Given the description of an element on the screen output the (x, y) to click on. 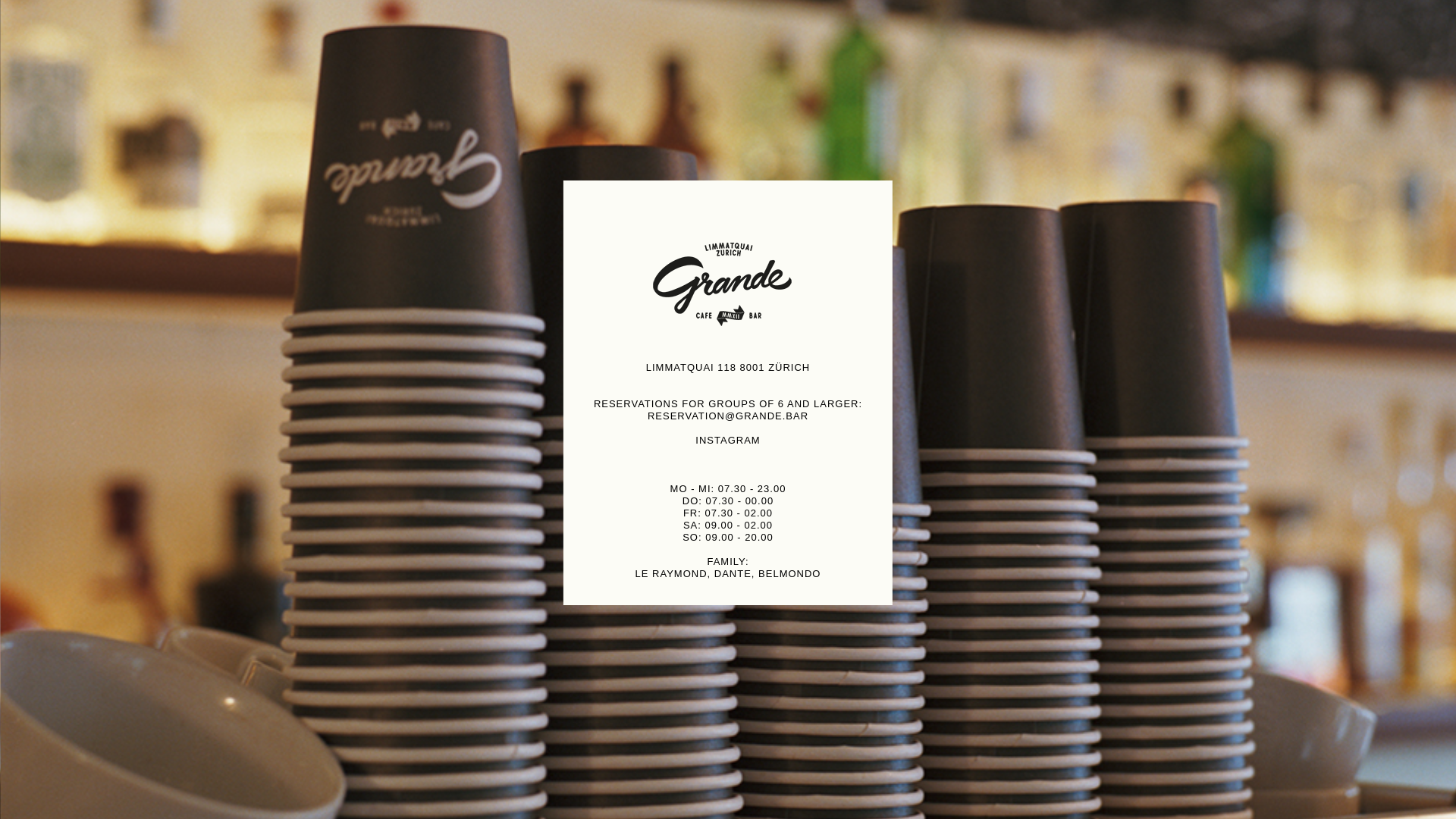
RESERVATION@GRANDE.BAR Element type: text (727, 415)
BELMONDO Element type: text (789, 573)
LE RAYMOND Element type: text (671, 573)
DANTE Element type: text (732, 573)
INSTAGRAM Element type: text (727, 439)
